Given the description of an element on the screen output the (x, y) to click on. 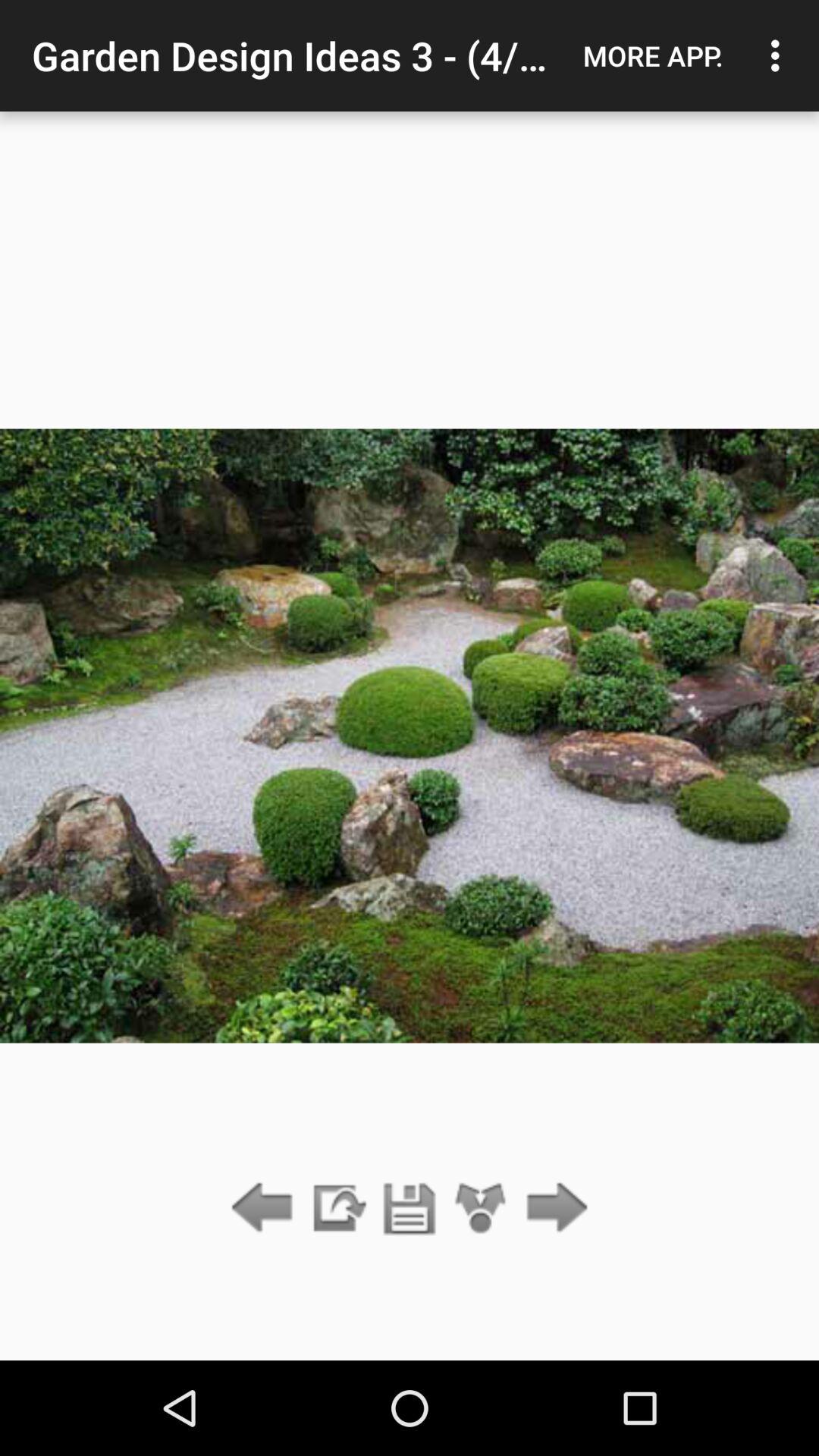
open the item below more app. icon (552, 1209)
